Given the description of an element on the screen output the (x, y) to click on. 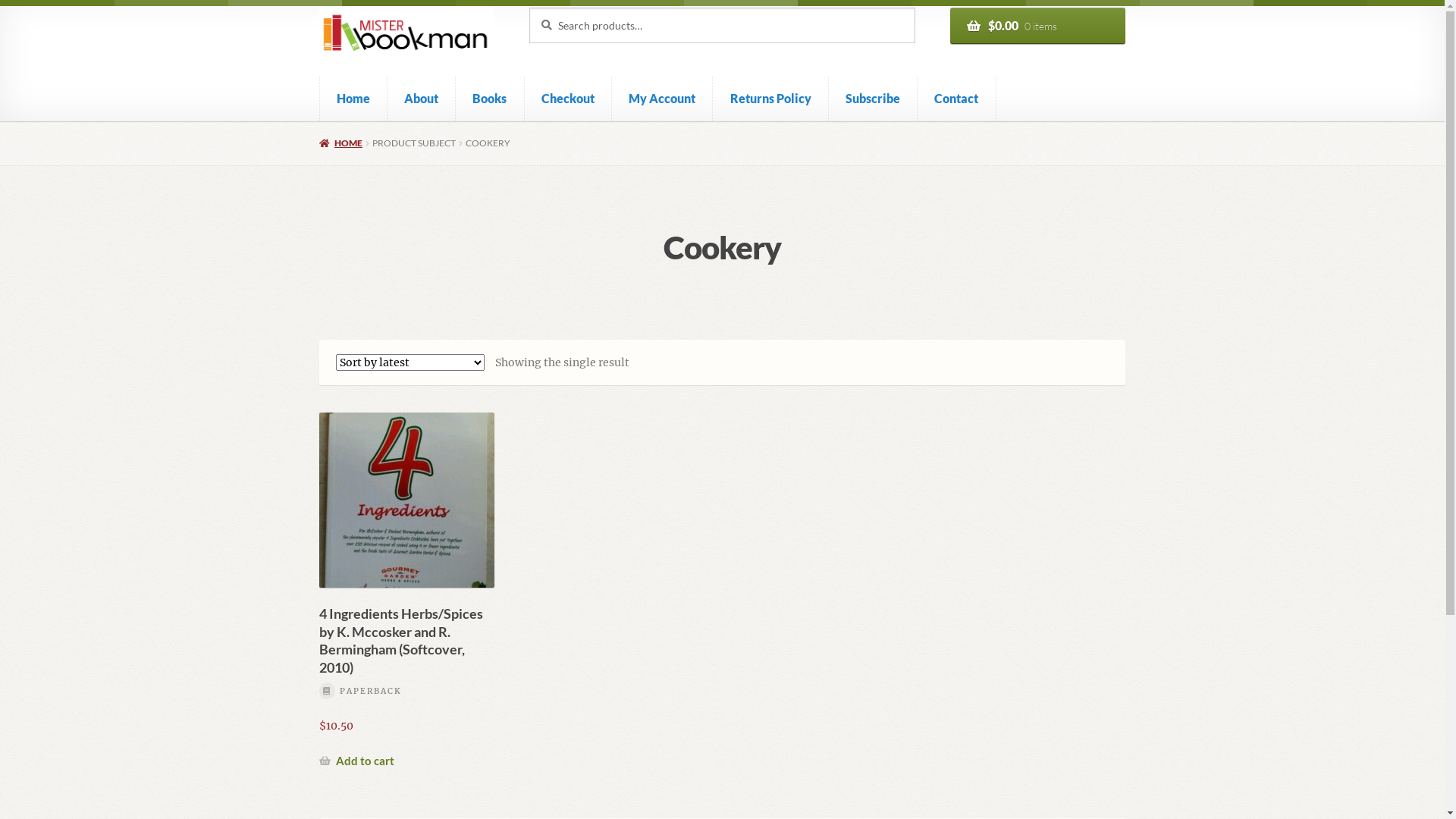
Skip to navigation Element type: text (318, 6)
Returns Policy Element type: text (770, 98)
Books Element type: text (489, 98)
Checkout Element type: text (567, 98)
Subscribe Element type: text (872, 98)
Home Element type: text (353, 98)
Contact Element type: text (956, 98)
HOME Element type: text (340, 142)
$0.00 0 items Element type: text (1037, 25)
About Element type: text (421, 98)
Search Element type: text (528, 6)
My Account Element type: text (661, 98)
Add to cart Element type: text (356, 760)
